Given the description of an element on the screen output the (x, y) to click on. 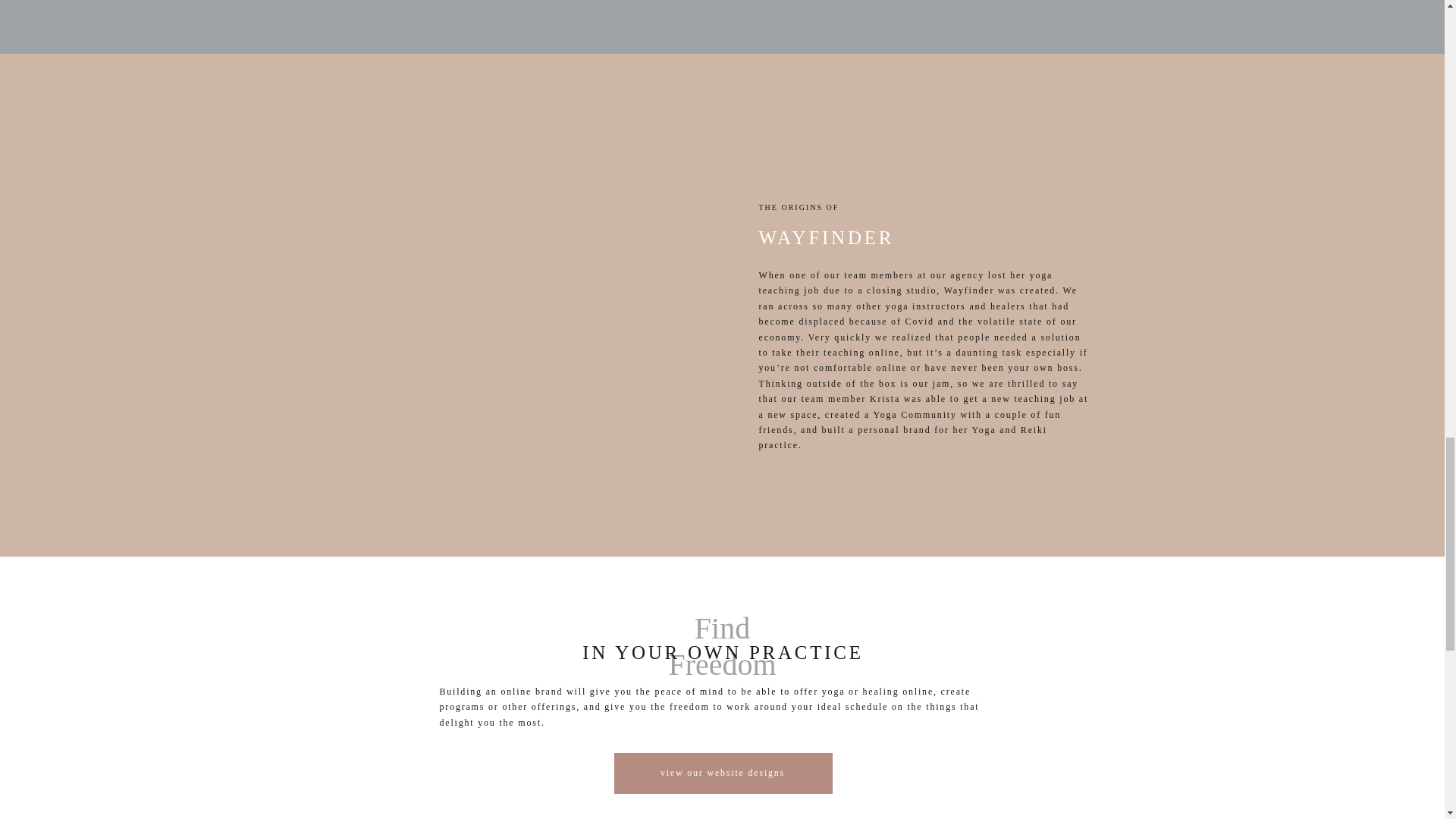
view our website designs (722, 773)
